Given the description of an element on the screen output the (x, y) to click on. 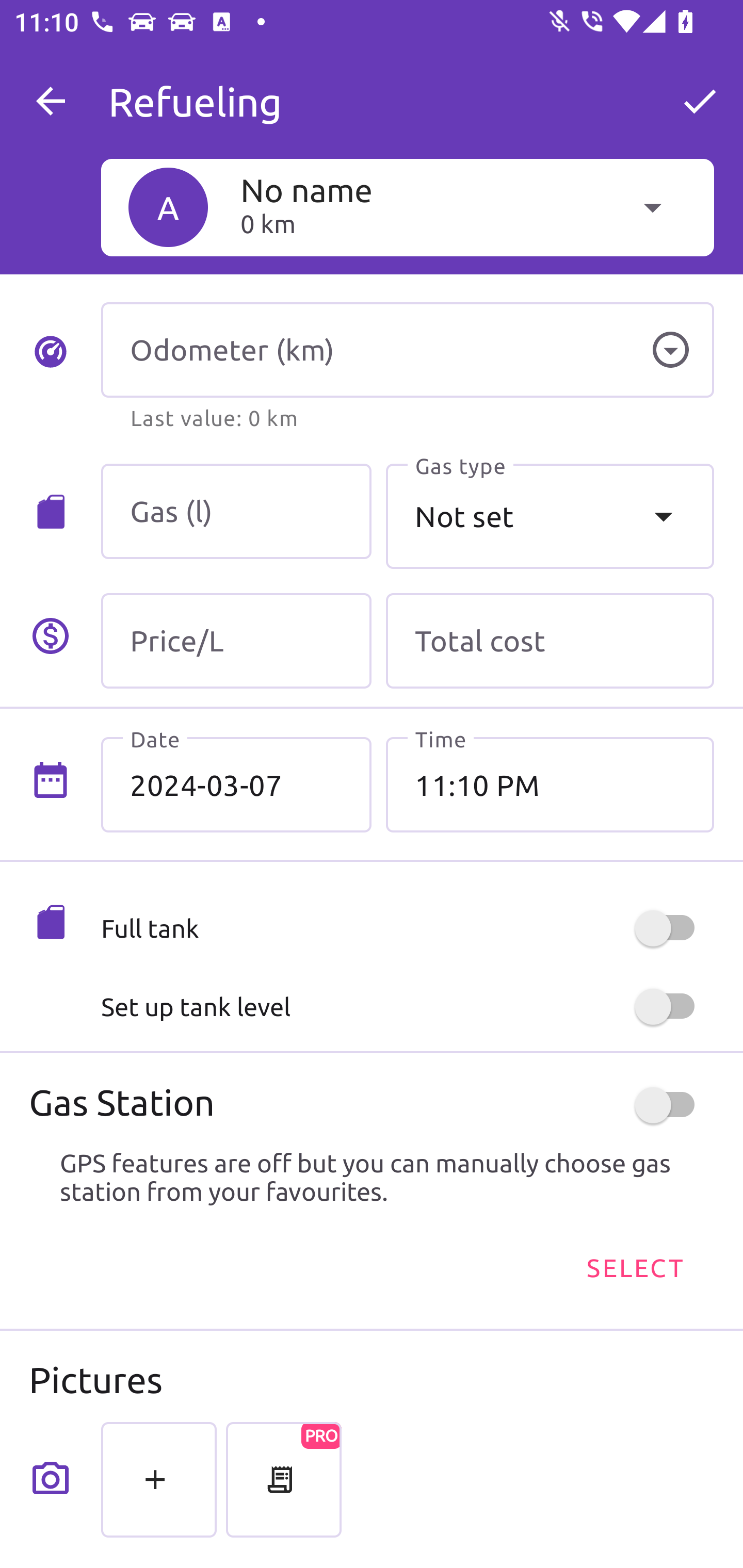
Navigate up (50, 101)
OK (699, 101)
A No name 0 km (407, 206)
Odometer (km) (407, 350)
Odometer (670, 349)
Gas (l) (236, 511)
Not set (549, 516)
Price/L (236, 640)
Total cost  (549, 640)
2024-03-07 (236, 784)
11:10 PM (549, 784)
Full tank (407, 928)
Set up tank level (407, 1006)
SELECT (634, 1267)
